Given the description of an element on the screen output the (x, y) to click on. 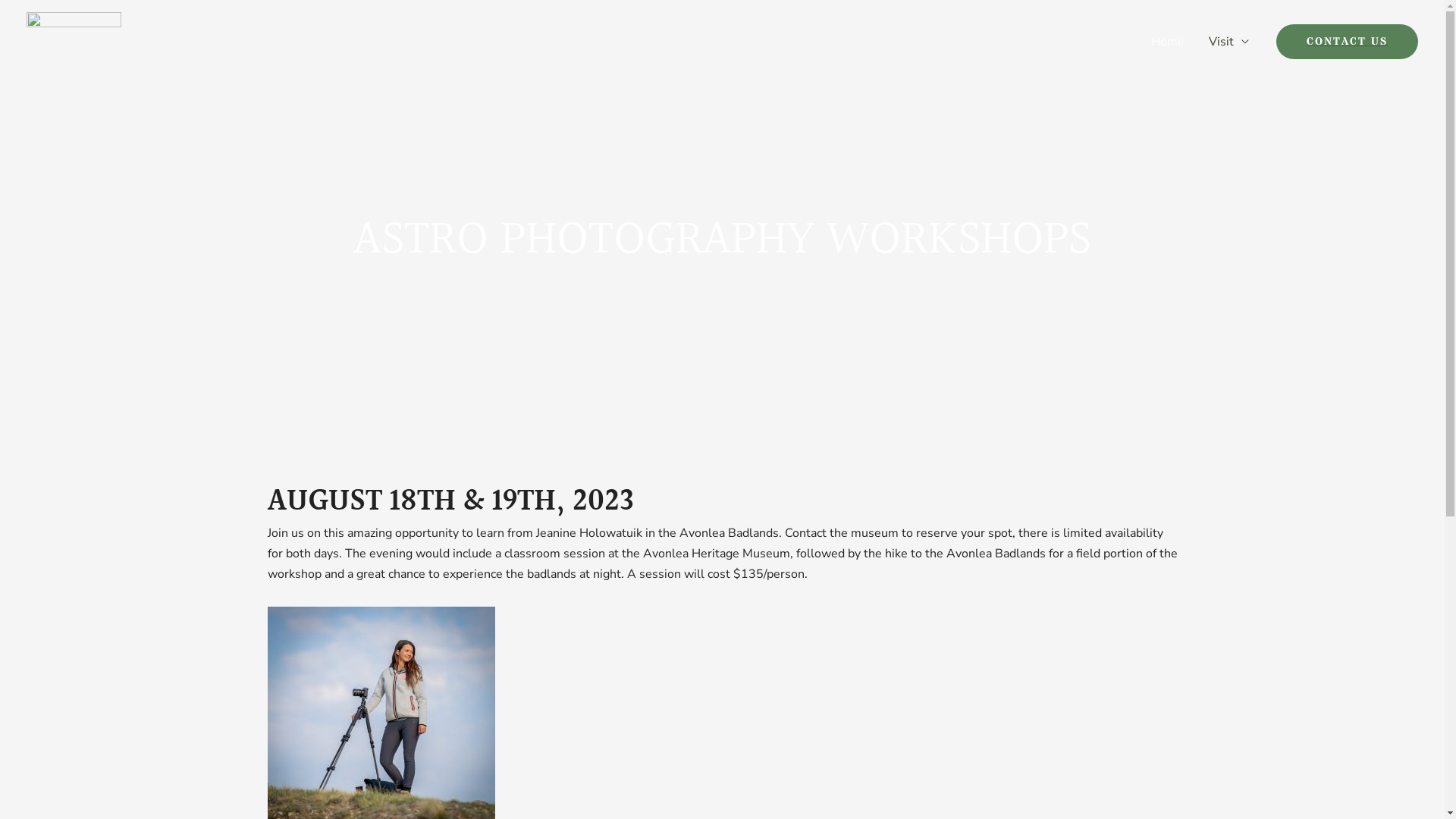
Home Element type: text (1167, 41)
Visit Element type: text (1228, 41)
CONTACT US Element type: text (1347, 41)
